Given the description of an element on the screen output the (x, y) to click on. 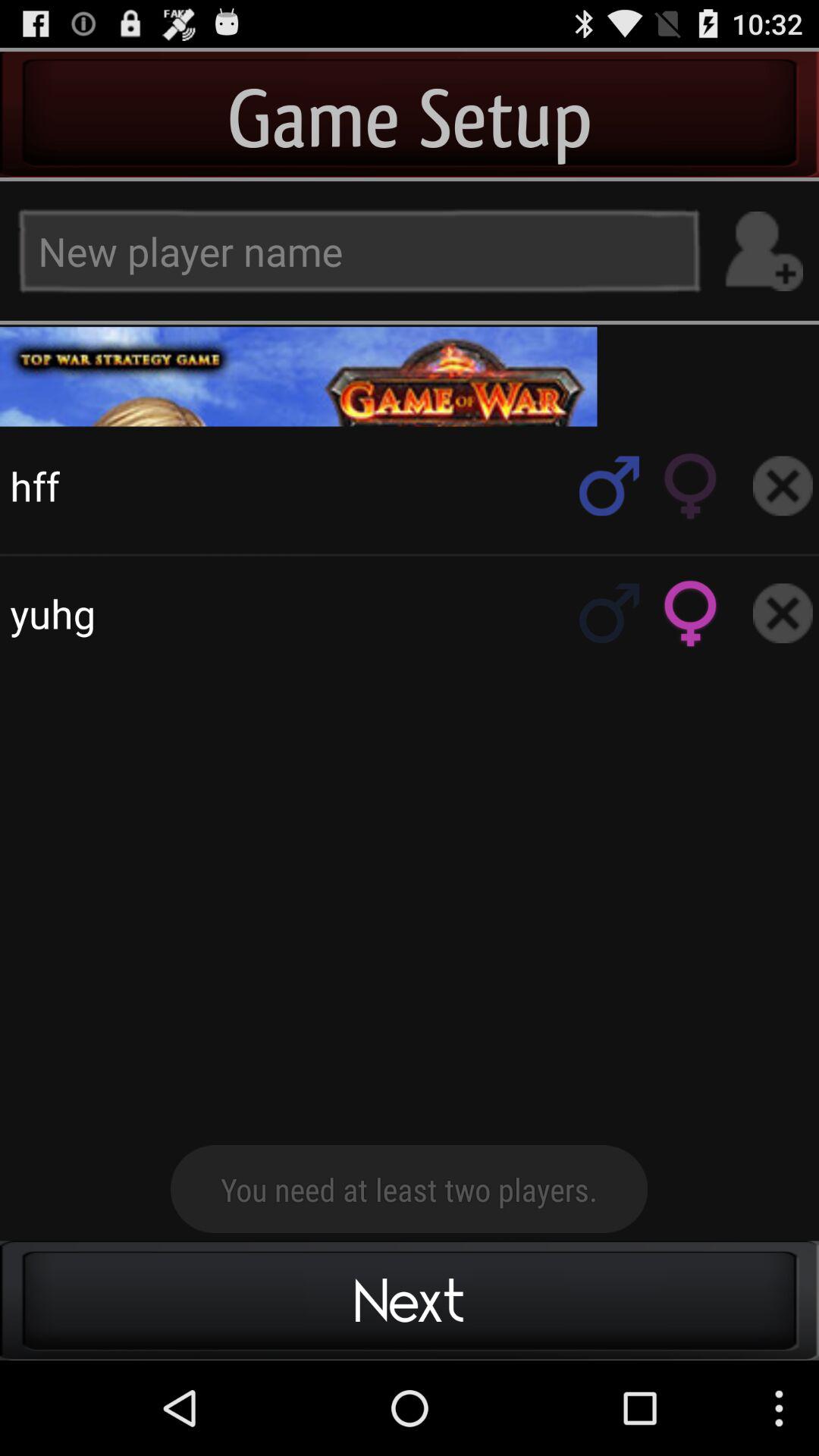
delete the row (782, 613)
